Given the description of an element on the screen output the (x, y) to click on. 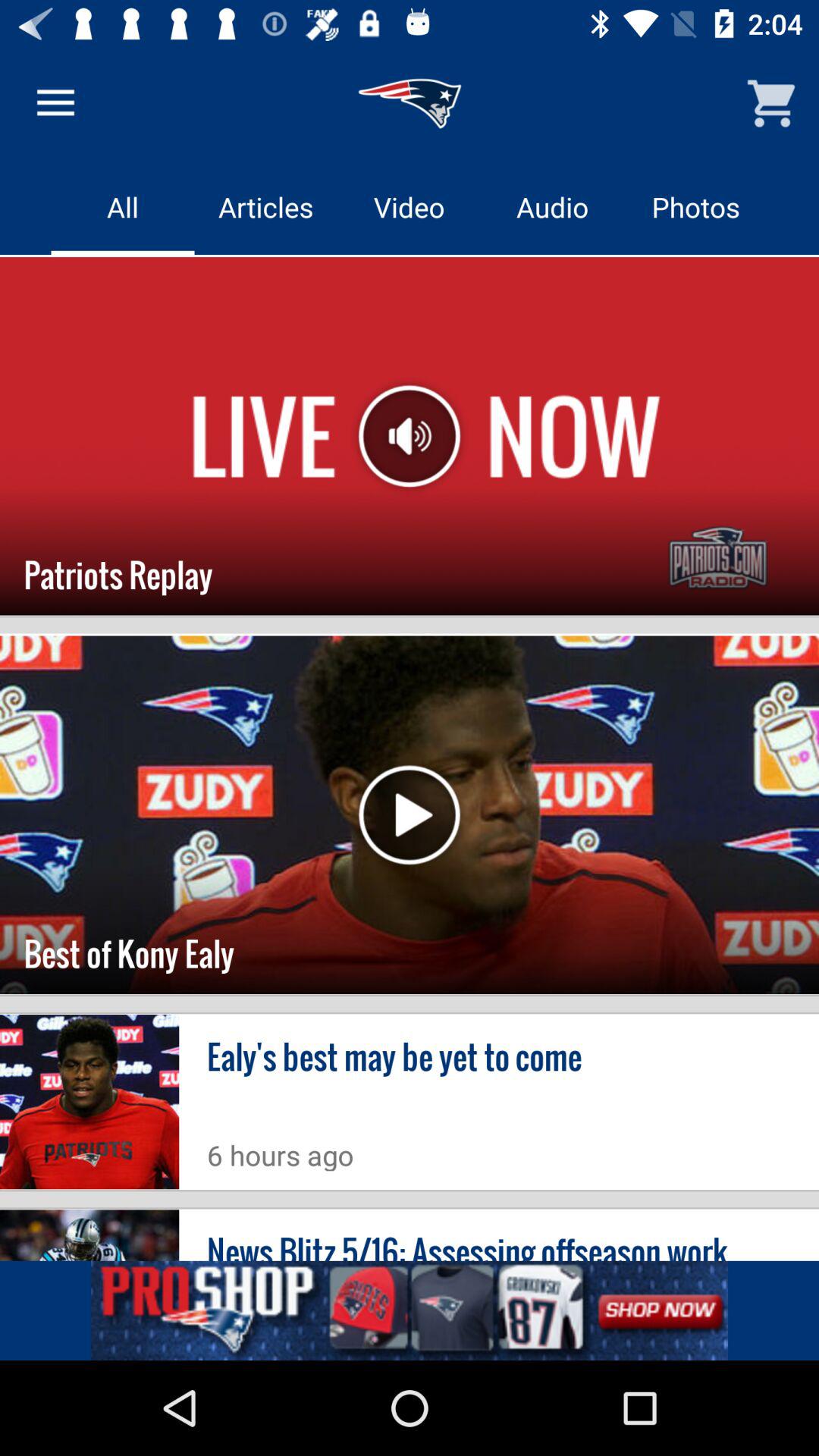
click on video (409, 206)
select the icon next to live (409, 436)
